Given the description of an element on the screen output the (x, y) to click on. 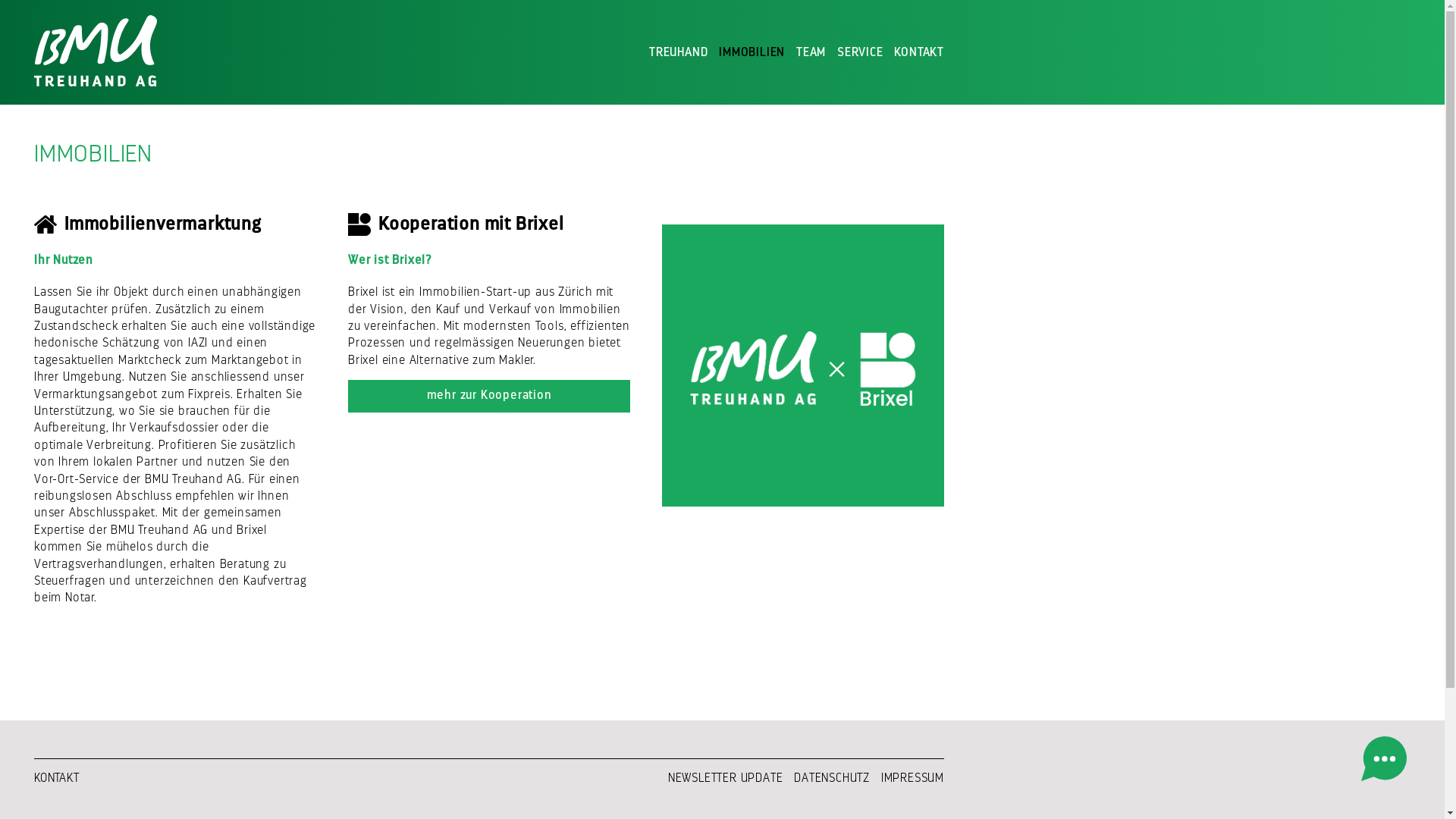
DATENSCHUTZ Element type: text (831, 777)
KONTAKT Element type: text (56, 777)
TEAM Element type: text (810, 53)
Direktnachricht senden Element type: hover (1383, 758)
Kooperation mit Brixel Element type: hover (803, 365)
NEWSLETTER UPDATE Element type: text (725, 777)
KONTAKT Element type: text (919, 53)
SERVICE Element type: text (860, 53)
IMMOBILIEN Element type: text (751, 53)
mehr zur Kooperation Element type: text (489, 395)
Startseite Element type: hover (102, 52)
IMPRESSUM Element type: text (912, 777)
TREUHAND Element type: text (678, 53)
